Given the description of an element on the screen output the (x, y) to click on. 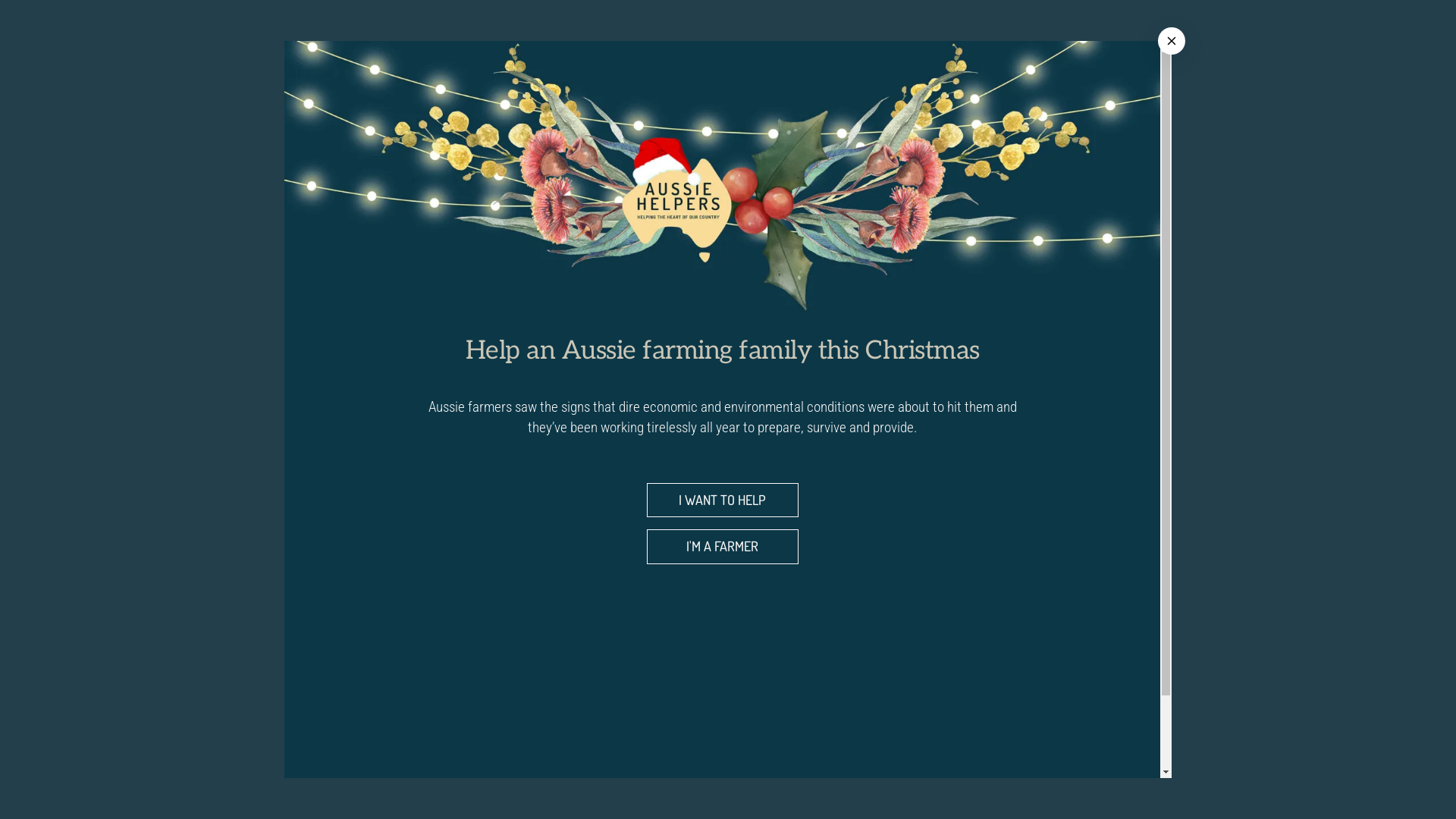
Close Element type: text (1171, 40)
I WANT TO HELP
I WANT TO HELP Element type: text (721, 500)
I'M A FARMER
I'M A FARMER Element type: text (721, 546)
BACK TO HOME
BACK TO HOME Element type: text (728, 473)
